Given the description of an element on the screen output the (x, y) to click on. 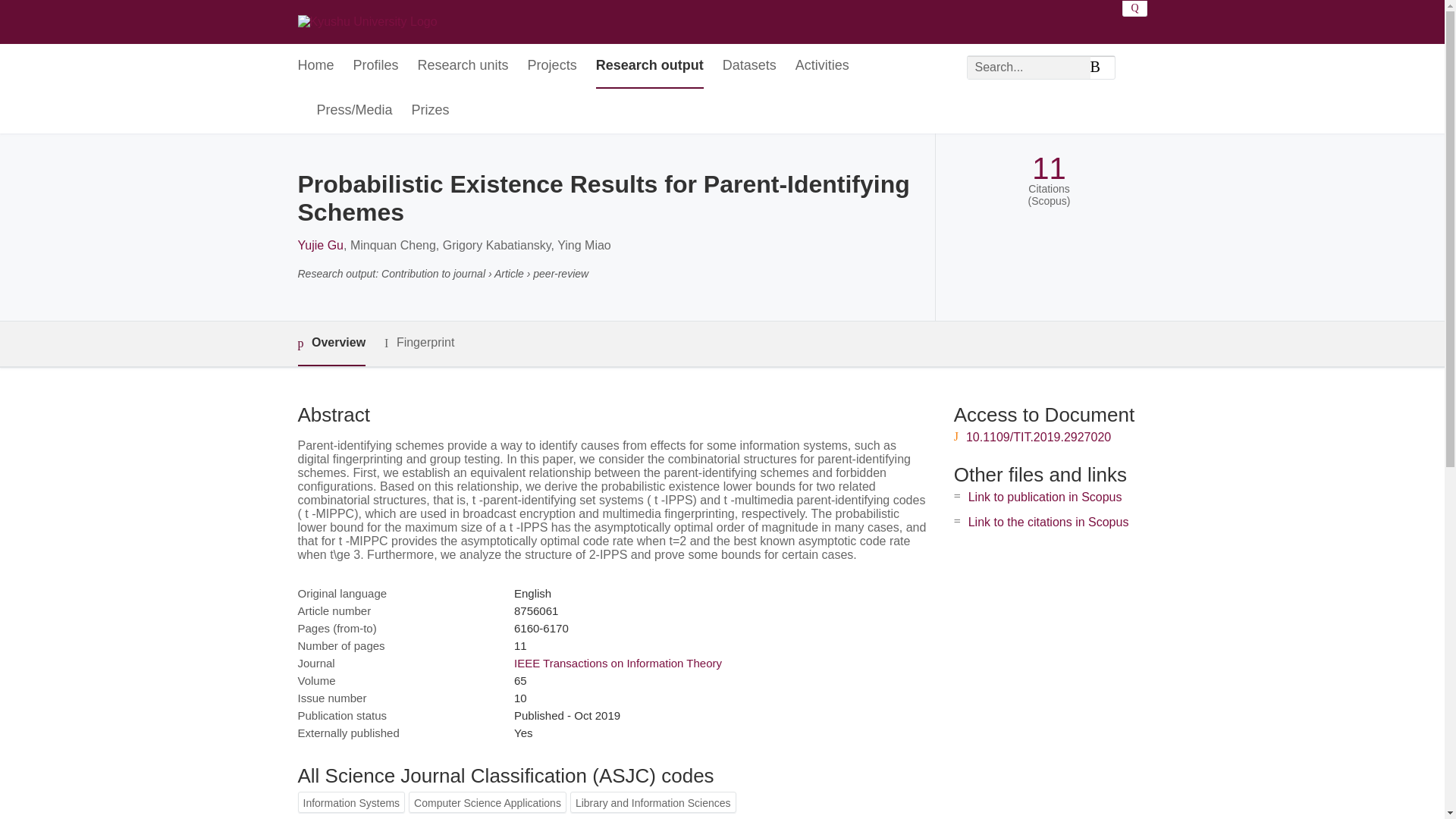
Yujie Gu (319, 245)
Activities (821, 66)
Prizes (430, 110)
11 (1048, 168)
IEEE Transactions on Information Theory (617, 662)
Link to publication in Scopus (1045, 496)
Home (315, 66)
Research units (462, 66)
Link to the citations in Scopus (1048, 521)
Research output (649, 66)
Projects (551, 66)
Profiles (375, 66)
Fingerprint (419, 342)
Overview (331, 343)
